Given the description of an element on the screen output the (x, y) to click on. 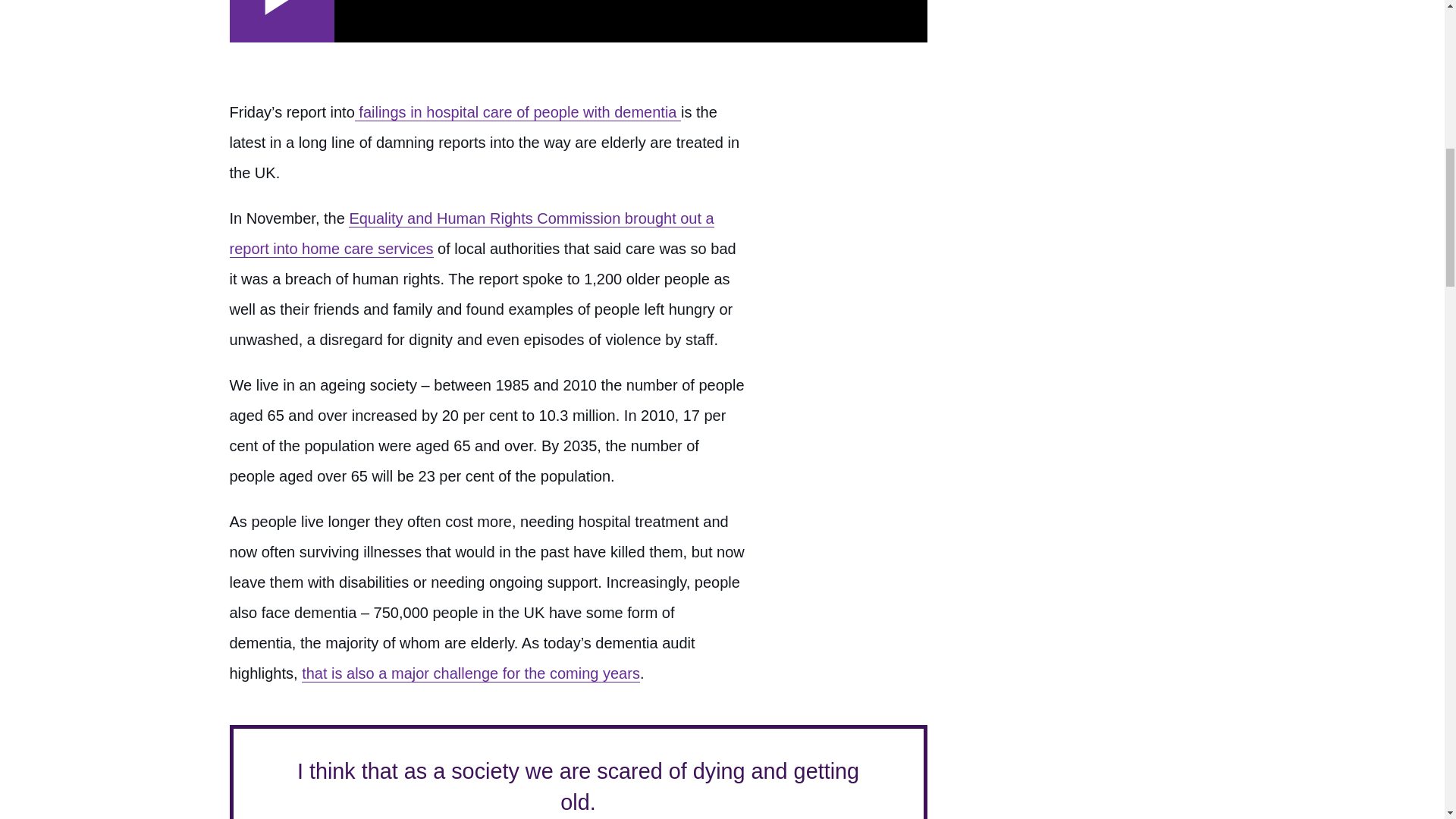
that is also a major challenge for the coming years (470, 673)
Play Video (280, 21)
failings in hospital care of people with dementia (518, 112)
Play Video (280, 21)
